Given the description of an element on the screen output the (x, y) to click on. 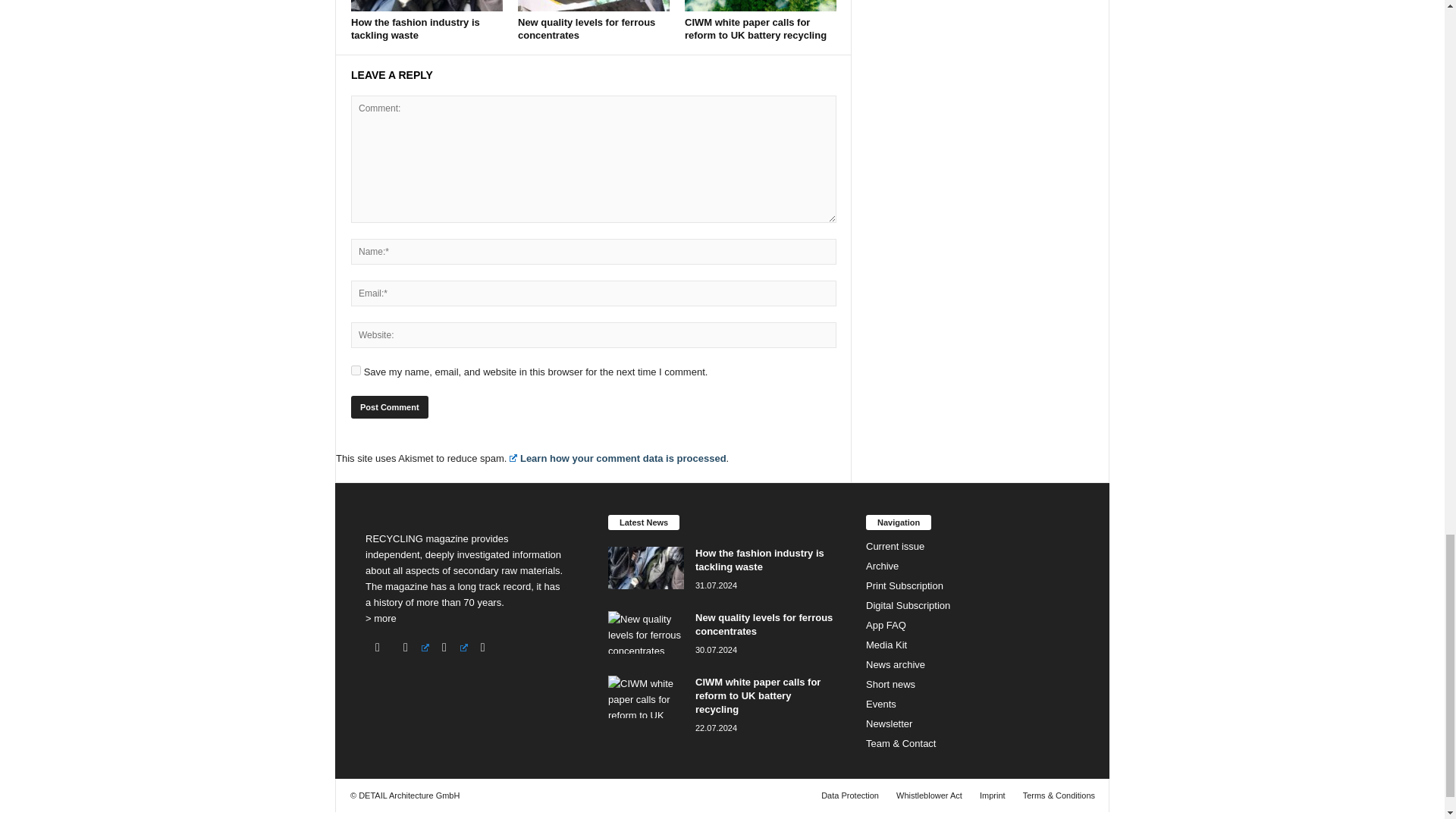
yes (355, 370)
Post Comment (389, 406)
